Given the description of an element on the screen output the (x, y) to click on. 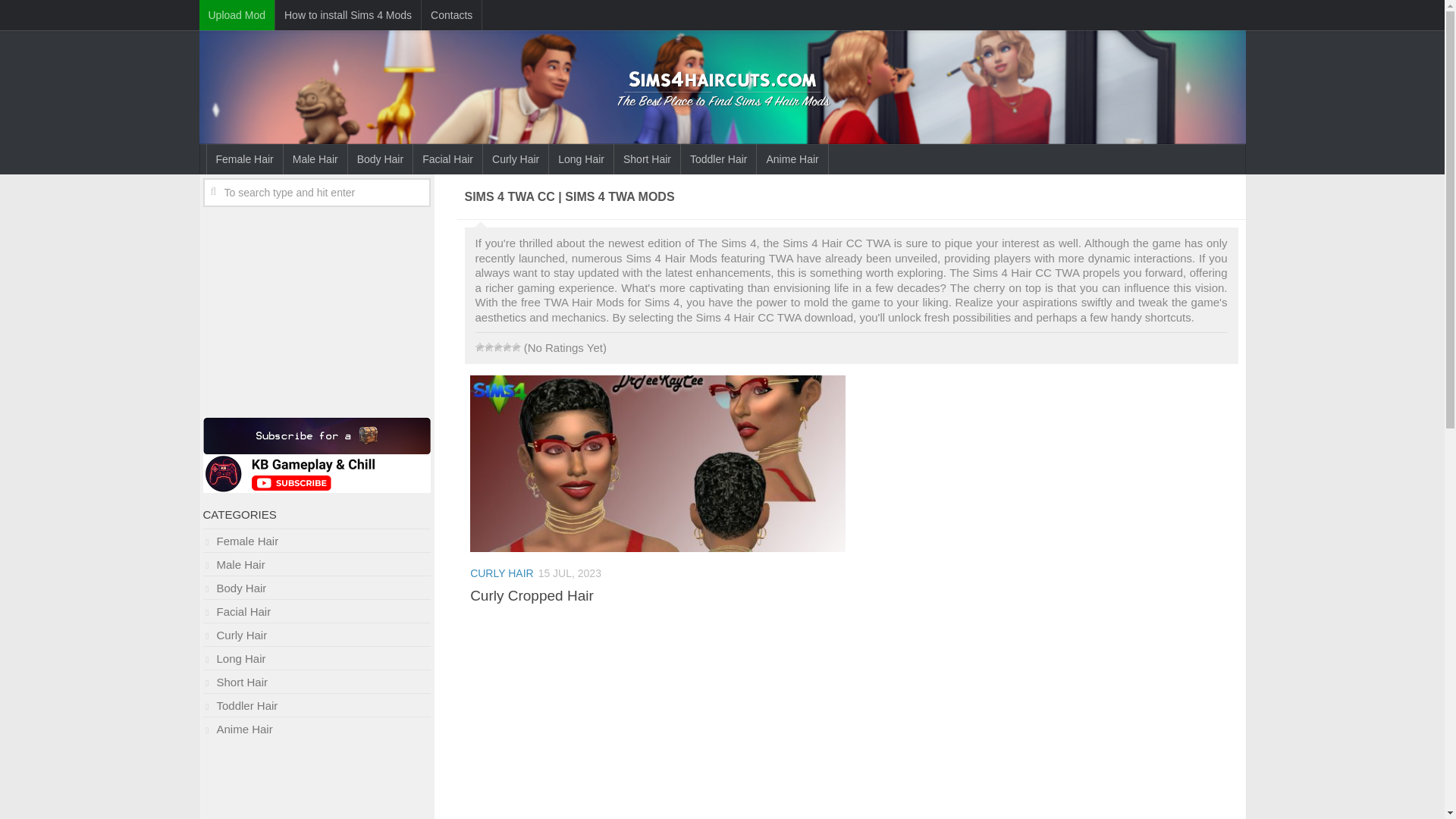
Male Hair (315, 159)
Female Hair (316, 540)
To search type and hit enter (316, 192)
4 Stars (506, 347)
5 Stars (515, 347)
Curly Cropped Hair (532, 595)
Anime Hair (316, 728)
How to install Sims 4 Mods (347, 15)
Toddler Hair (718, 159)
Advertisement (316, 309)
